Given the description of an element on the screen output the (x, y) to click on. 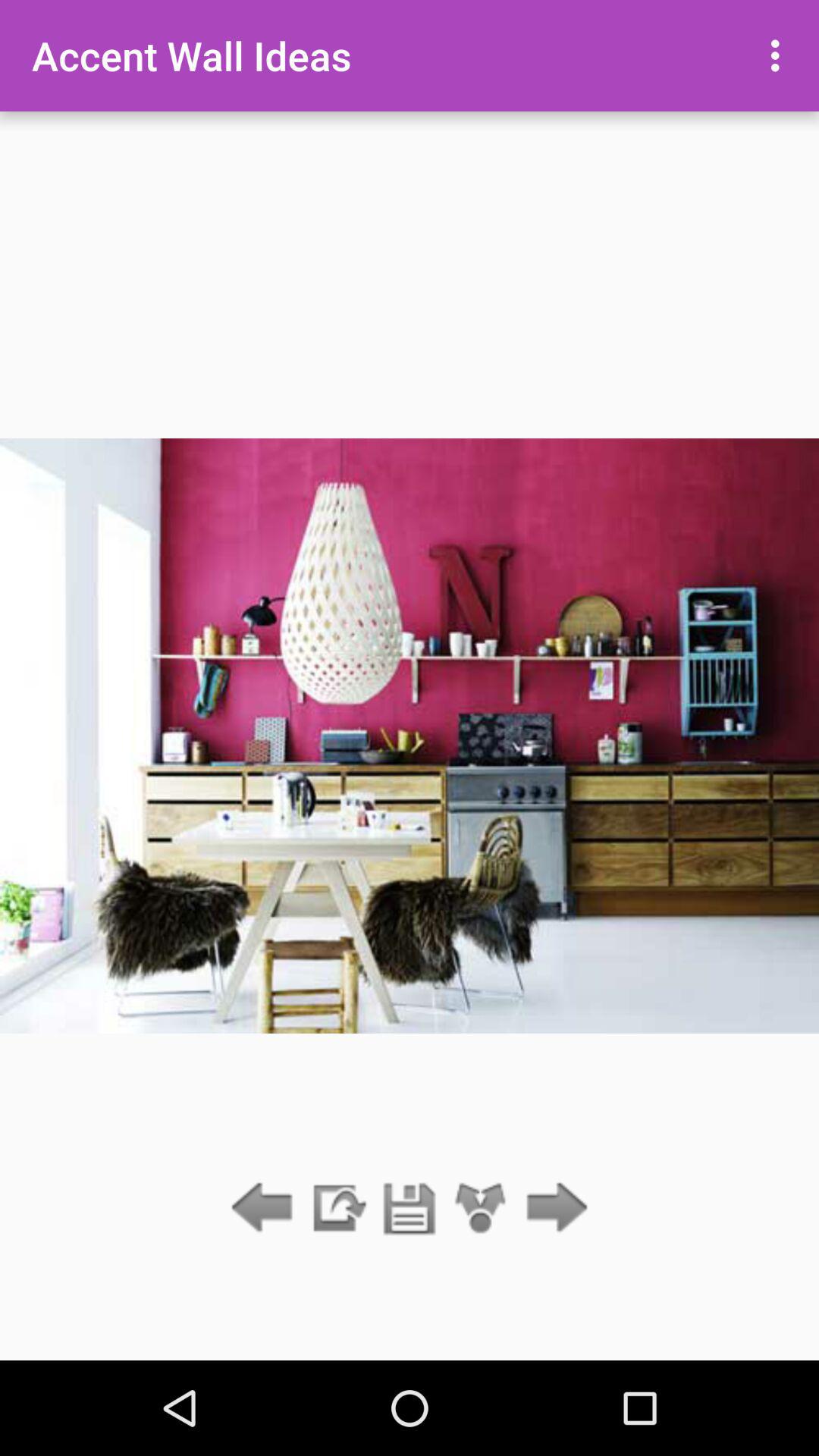
share image (480, 1208)
